Given the description of an element on the screen output the (x, y) to click on. 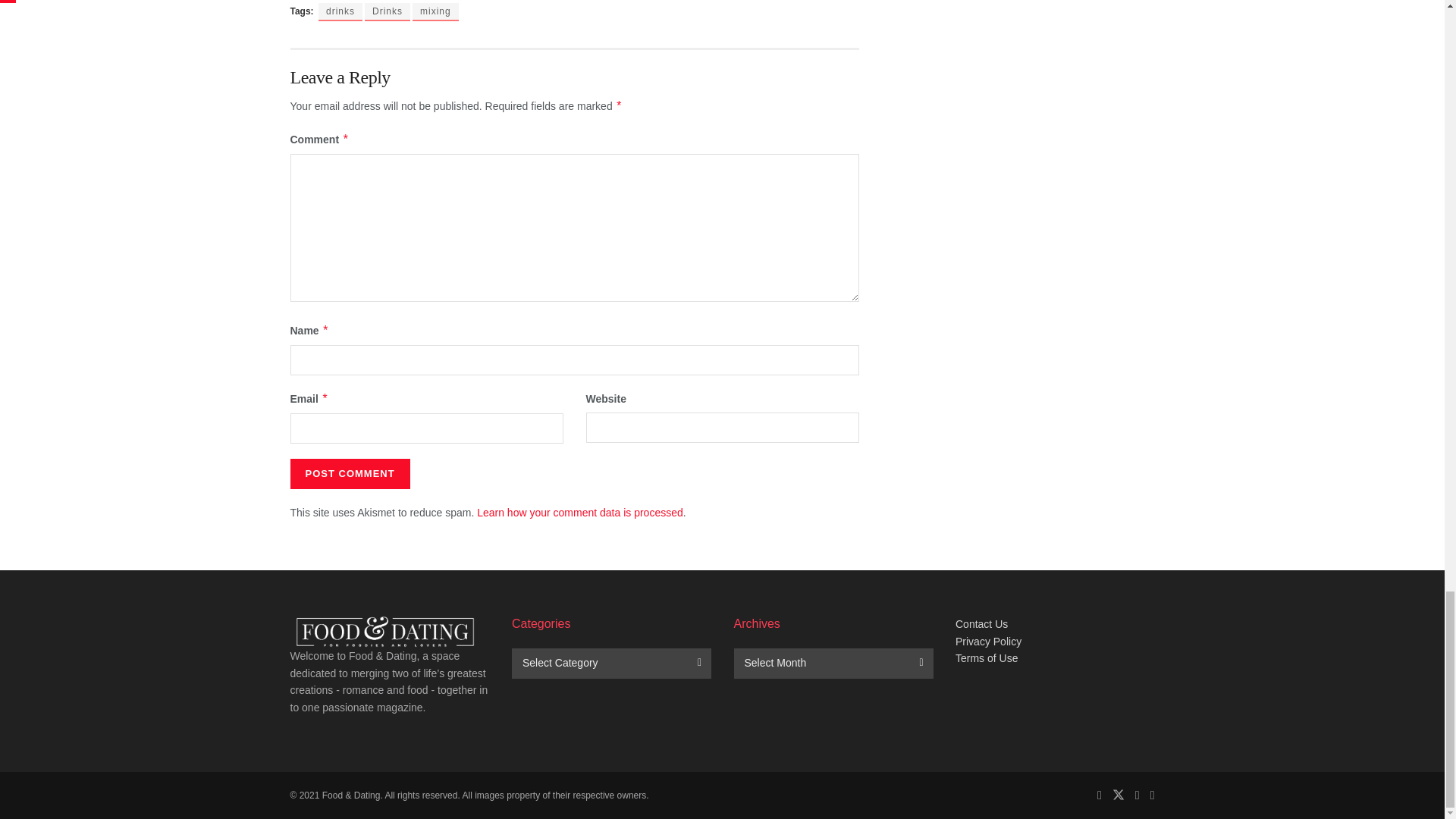
Post Comment (349, 473)
drinks (340, 12)
Drinks (387, 12)
mixing (435, 12)
